Given the description of an element on the screen output the (x, y) to click on. 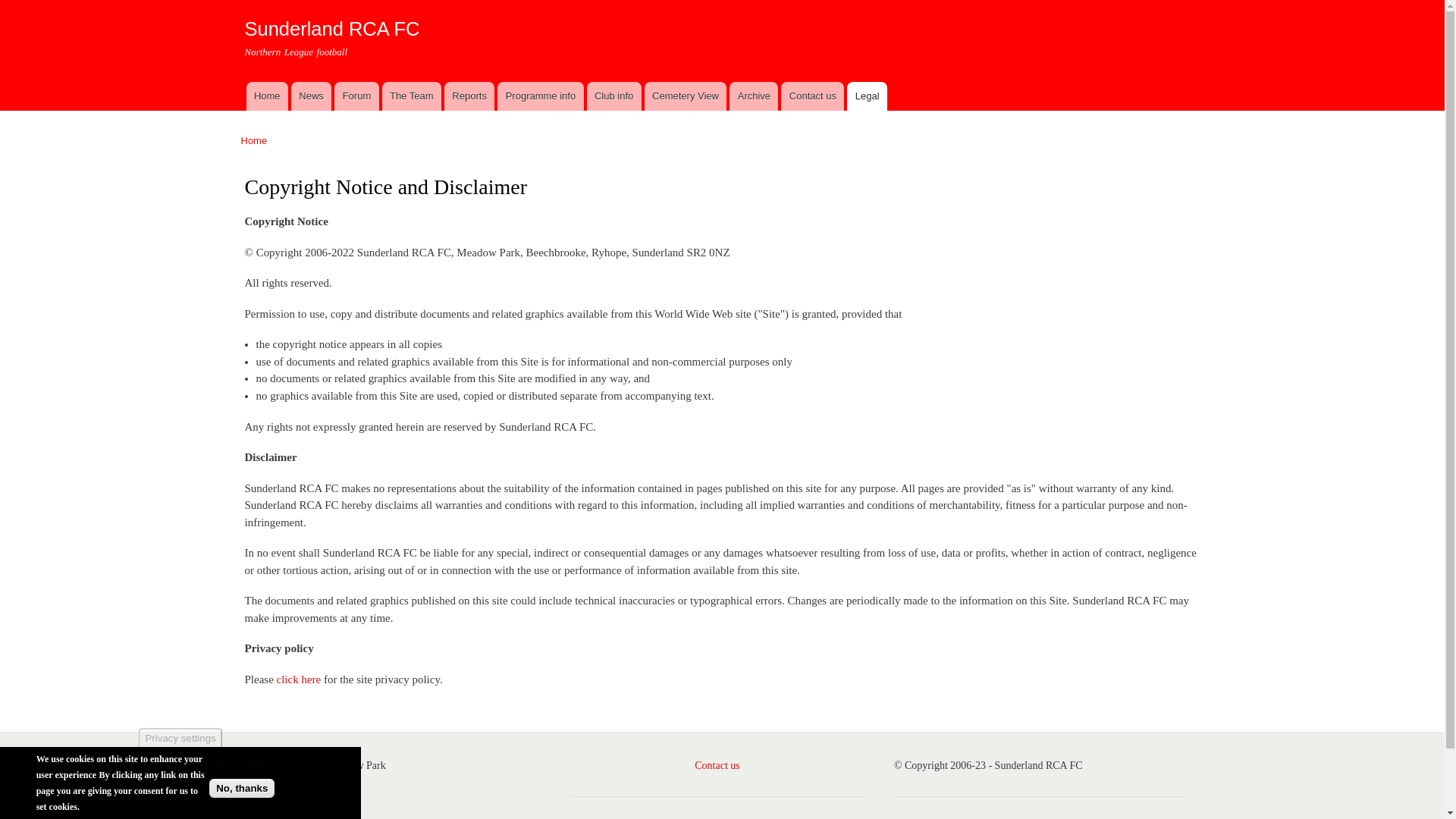
Resources for opposition programme editors (540, 95)
Archive (753, 95)
News (311, 95)
No, give me more info (130, 806)
Legal (866, 95)
Skip to main content (690, 1)
Home (266, 95)
Home (331, 28)
OK, I agree (241, 762)
Cemetery View (685, 95)
The Team (411, 95)
Home page link (266, 95)
click here (298, 679)
Click here to go ot the fans' forum (356, 95)
